Given the description of an element on the screen output the (x, y) to click on. 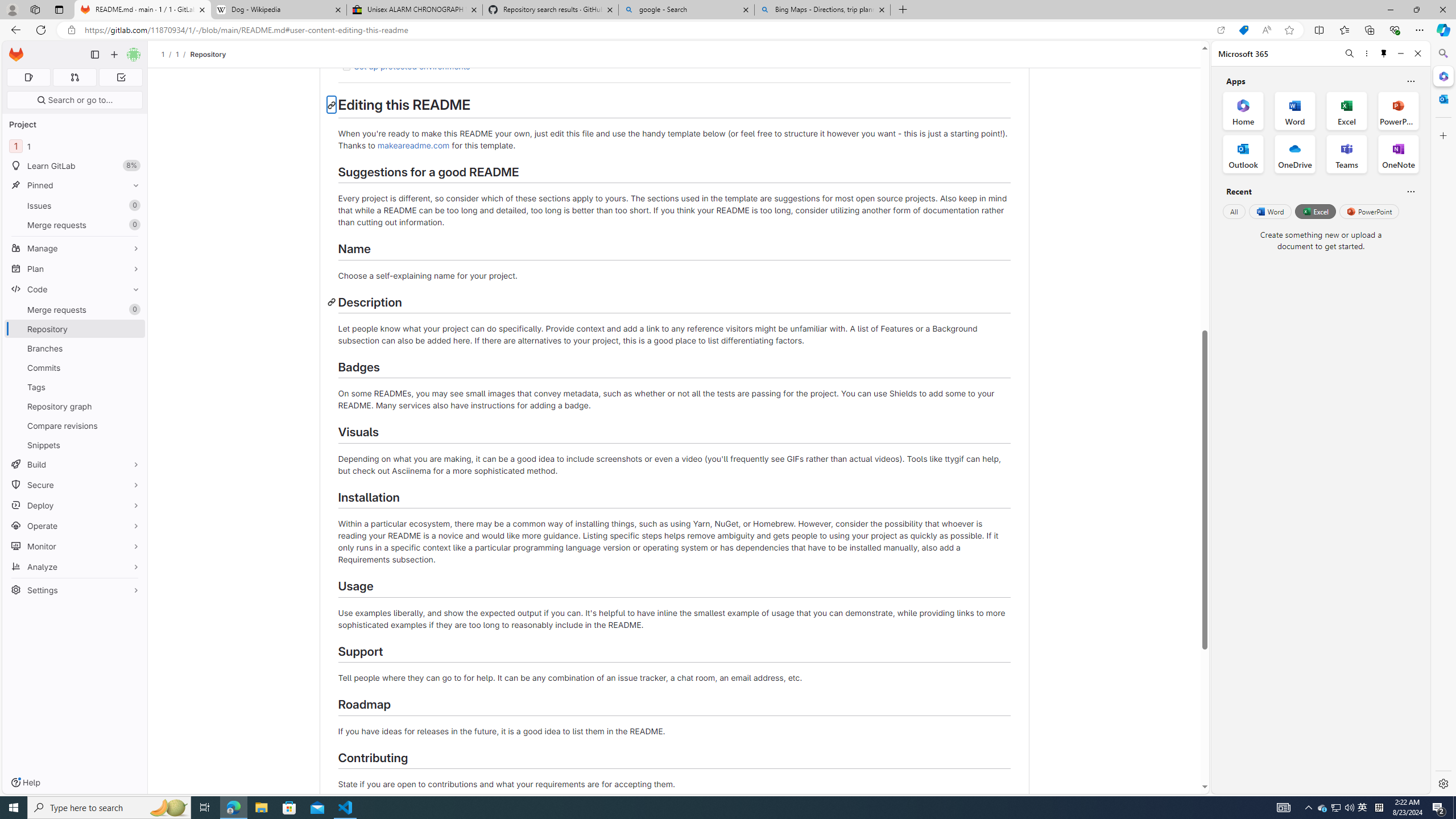
Deploy (74, 505)
Word (1269, 210)
Merge requests 0 (74, 309)
Pin Tags (132, 386)
Pin Snippets (132, 445)
Merge requests 0 (74, 76)
Learn GitLab 8% (74, 165)
11 (74, 145)
Unpin Merge requests (132, 309)
Outlook Office App (1243, 154)
Tags (74, 386)
